Given the description of an element on the screen output the (x, y) to click on. 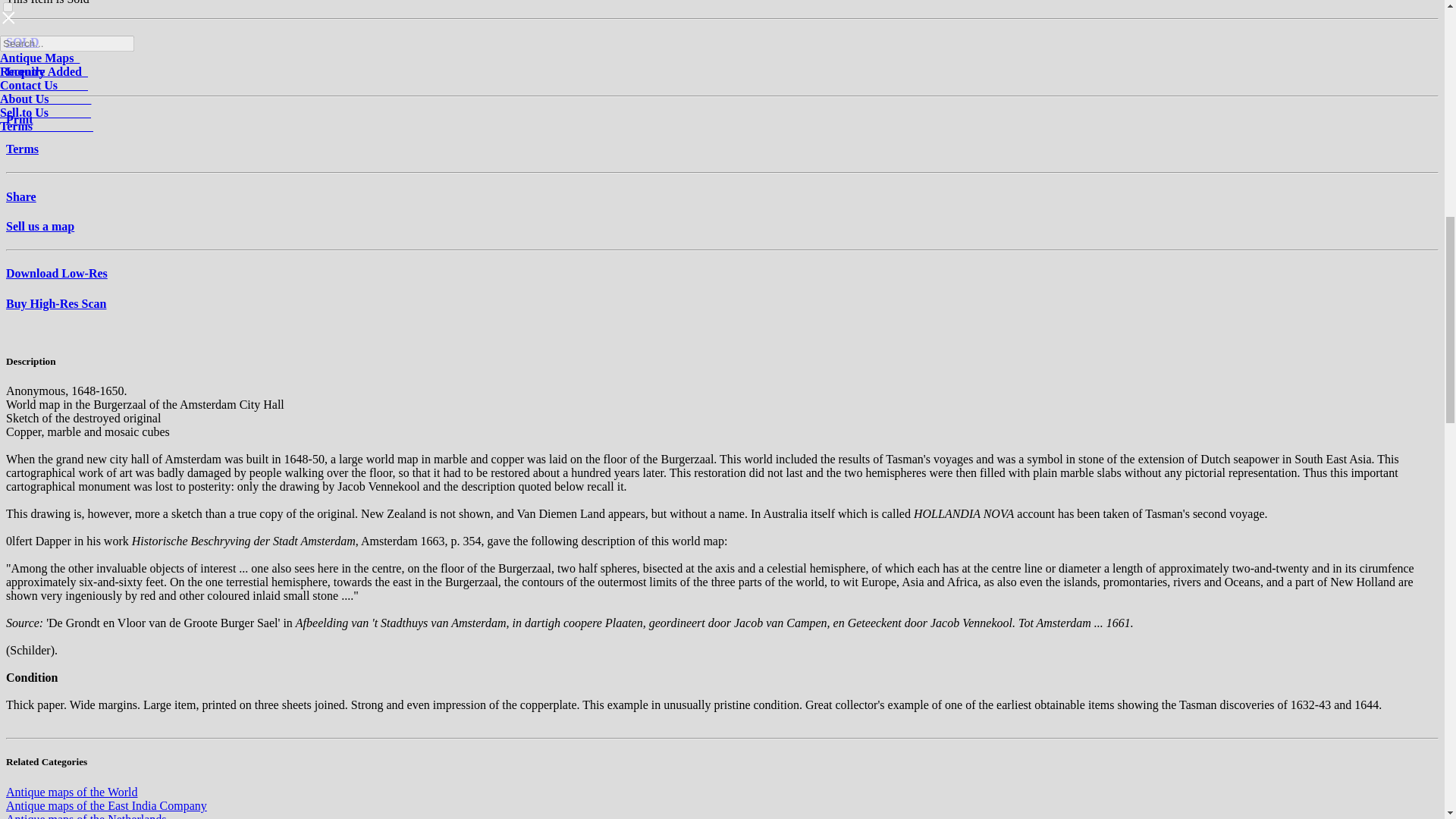
Antique maps of the World (71, 791)
Antique maps of the Netherlands (86, 816)
Antique maps of the East India Company (105, 805)
